Given the description of an element on the screen output the (x, y) to click on. 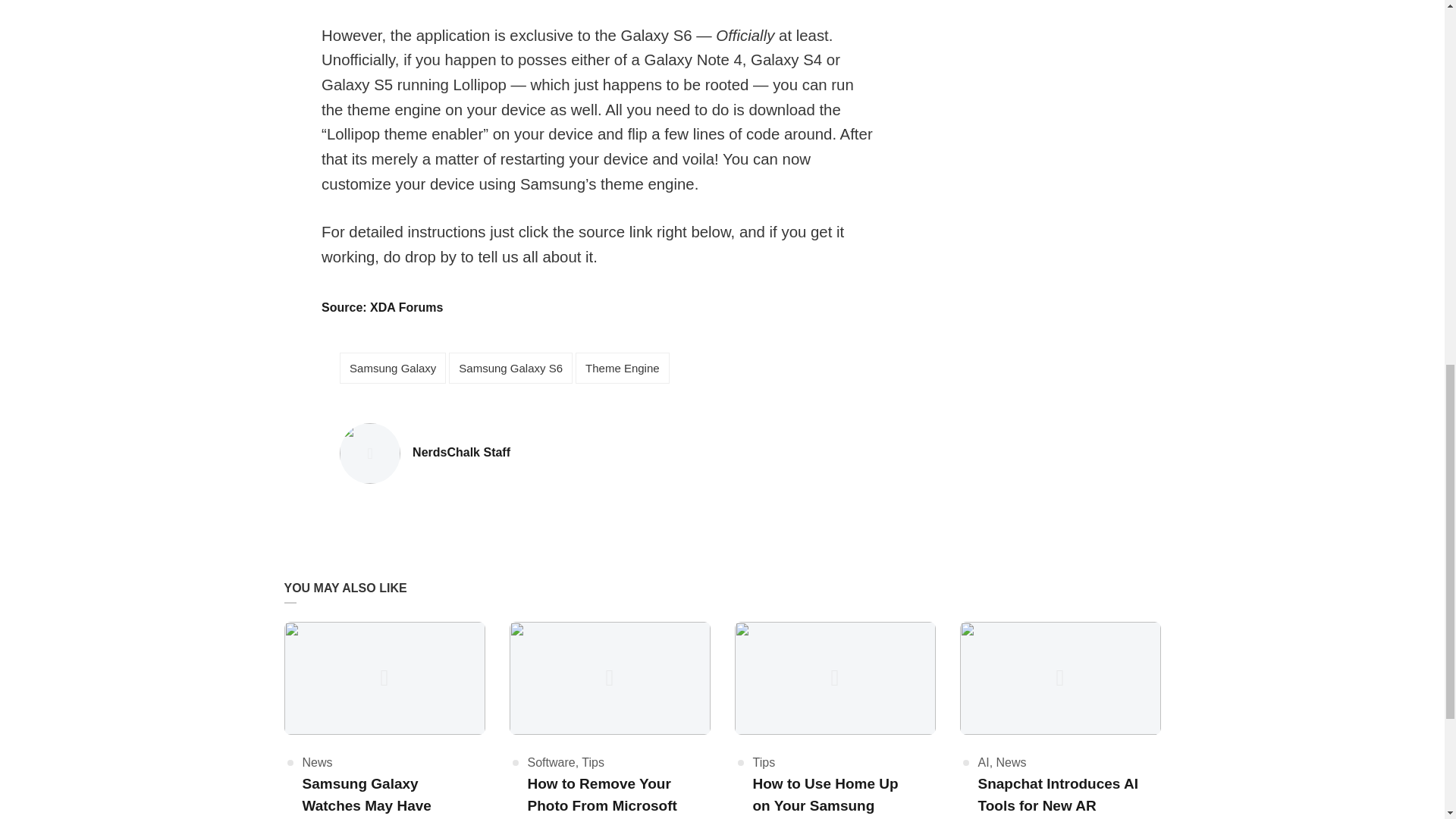
News (1010, 762)
AI (984, 762)
Samsung Galaxy (392, 368)
Samsung Galaxy S6 (510, 368)
Software (551, 762)
Tips (763, 762)
Theme Engine (622, 368)
Tips (592, 762)
XDA Forums  (407, 307)
News (316, 762)
